Given the description of an element on the screen output the (x, y) to click on. 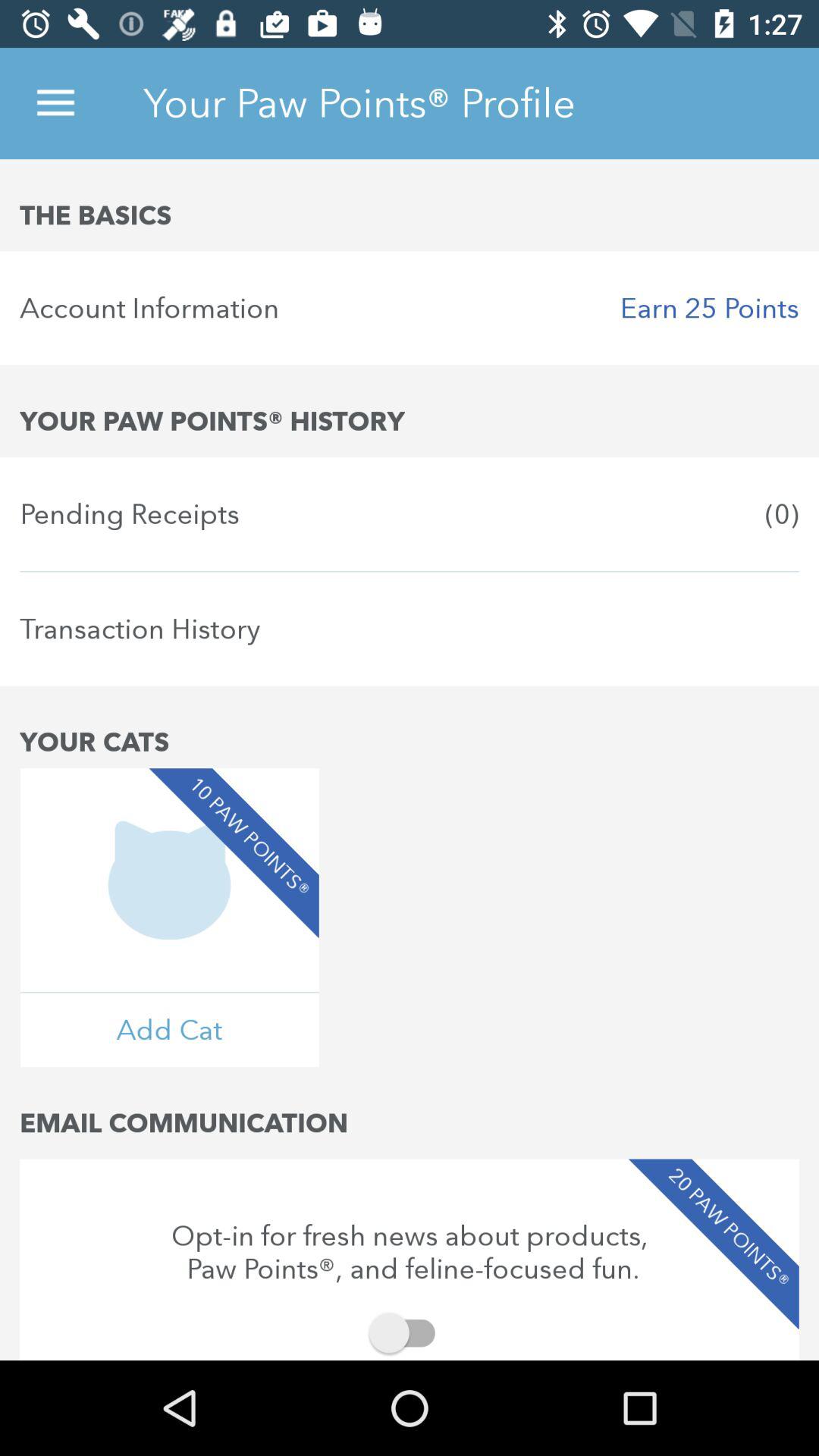
tap the icon above the basics item (55, 103)
